Given the description of an element on the screen output the (x, y) to click on. 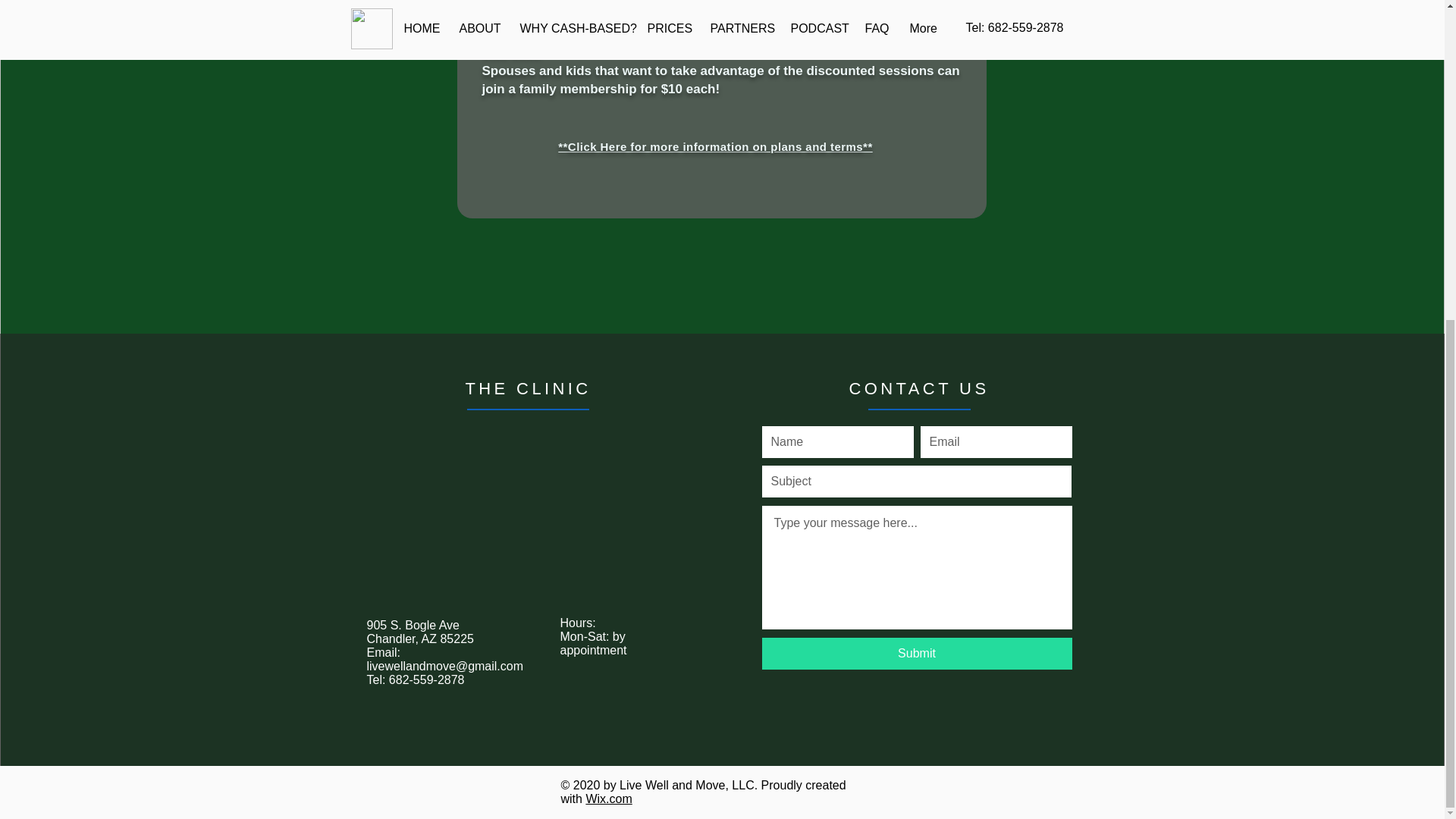
Submit (916, 653)
Wix.com (608, 798)
